Given the description of an element on the screen output the (x, y) to click on. 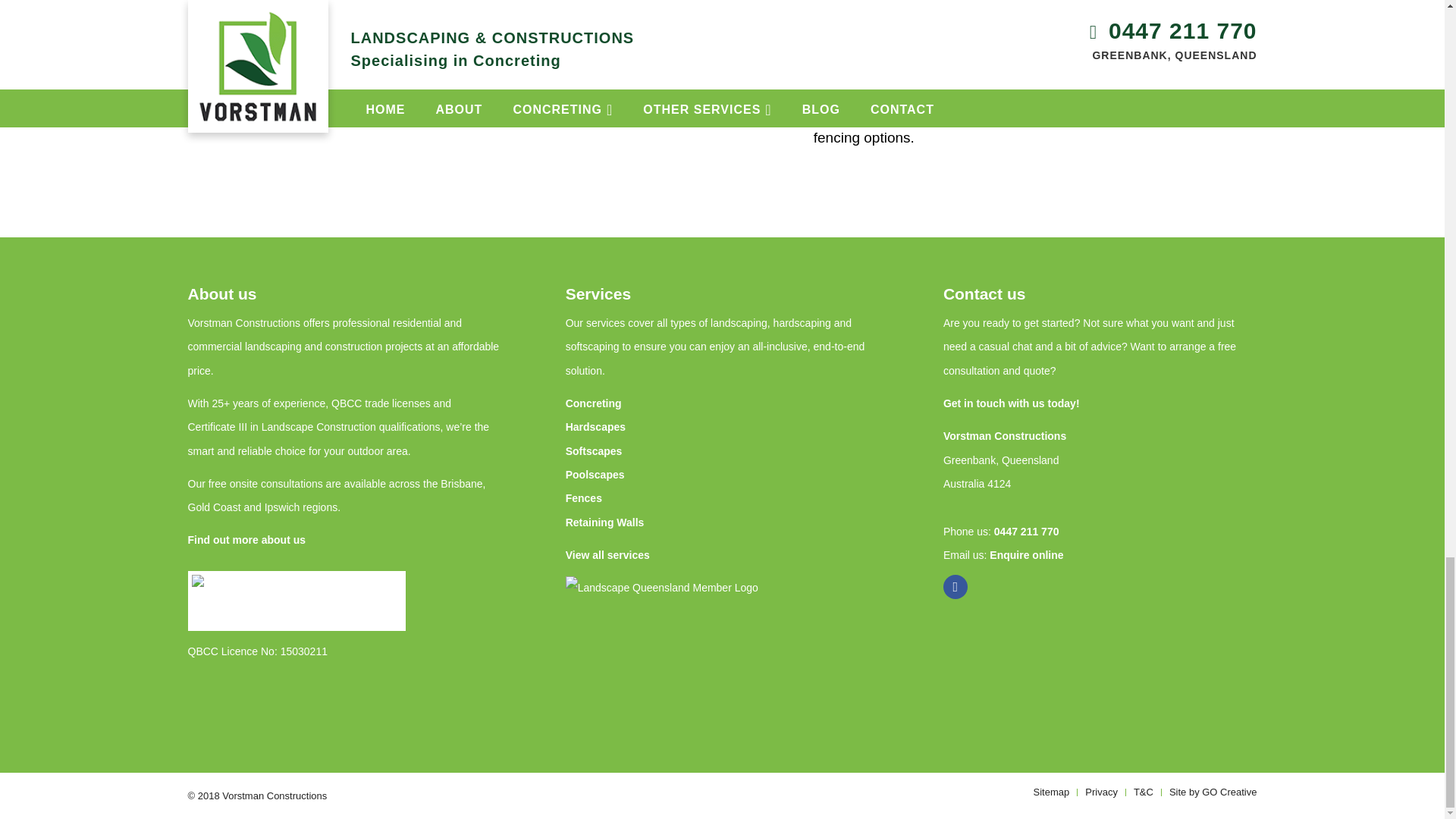
Facebook (955, 586)
Find out more about us (246, 539)
Hardscapes (596, 426)
Decorative Fence (580, 63)
Landscape Queensland Member Logo (674, 647)
Concreting (593, 403)
